Given the description of an element on the screen output the (x, y) to click on. 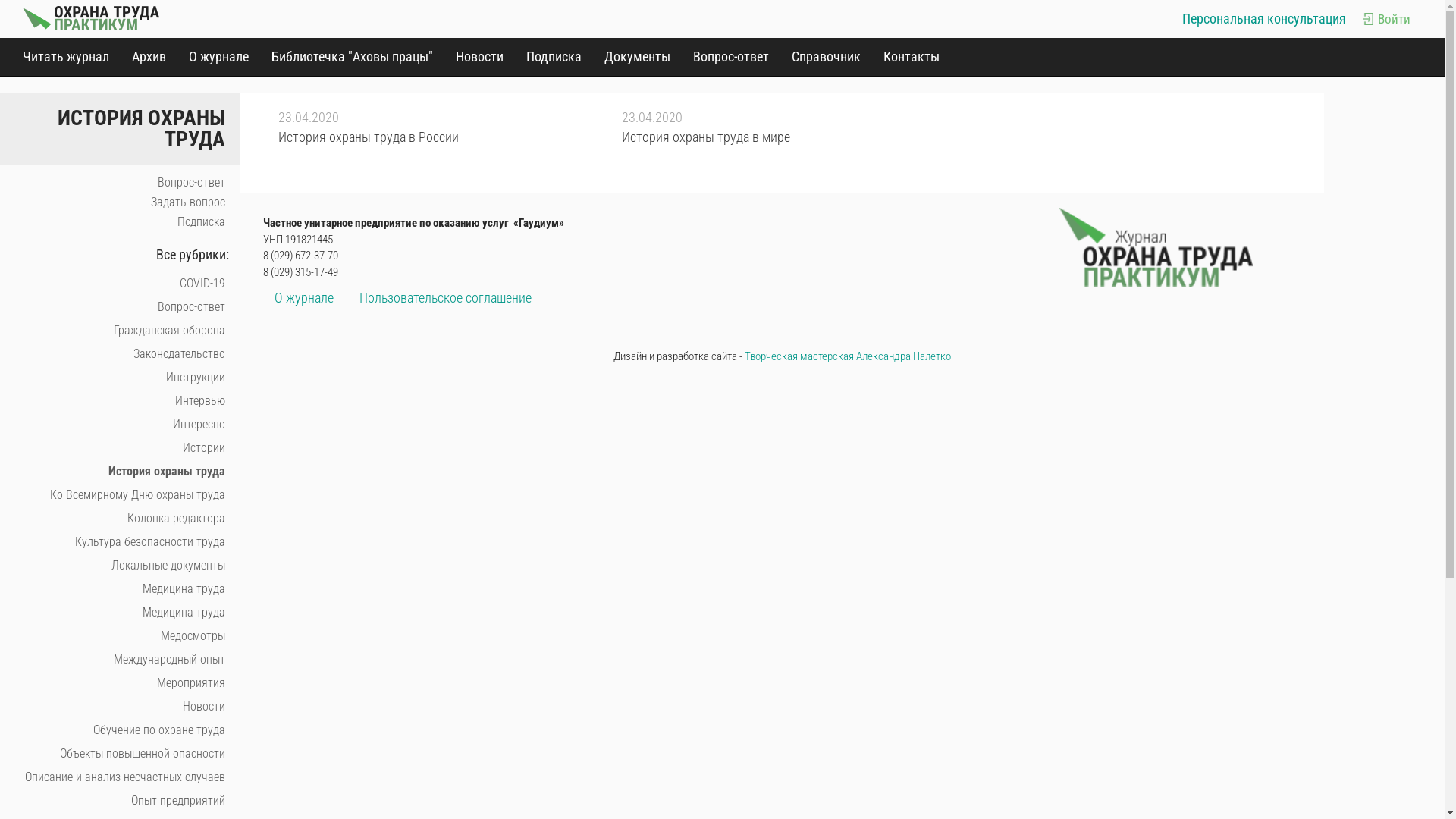
COVID-19 Element type: text (120, 283)
